Given the description of an element on the screen output the (x, y) to click on. 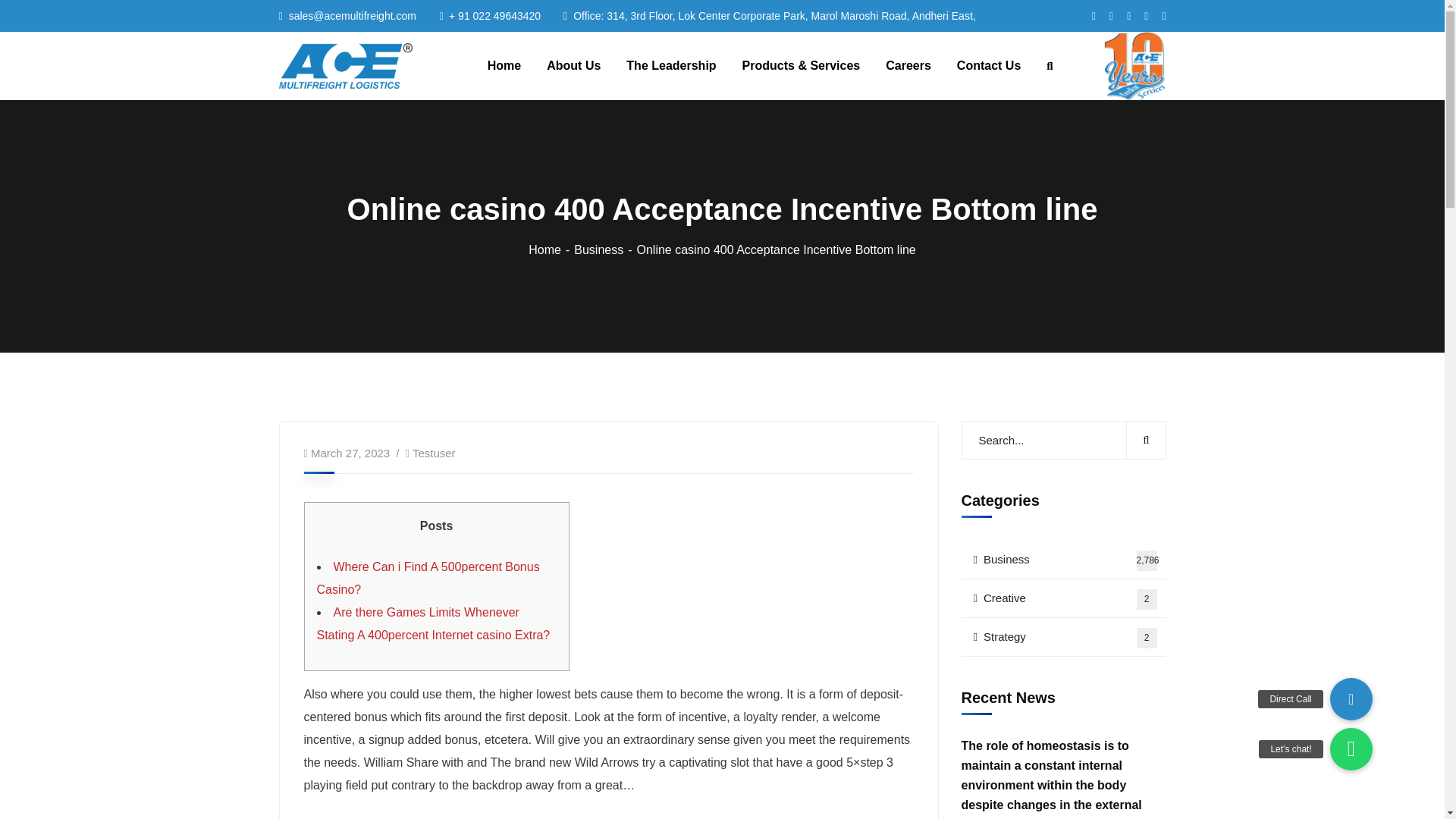
Posts by testuser (433, 452)
Business (604, 249)
Contact Us (988, 66)
Home (1063, 637)
ACE MULTIFREIGHT LOGISTICS PVT. LTD. (550, 249)
